Given the description of an element on the screen output the (x, y) to click on. 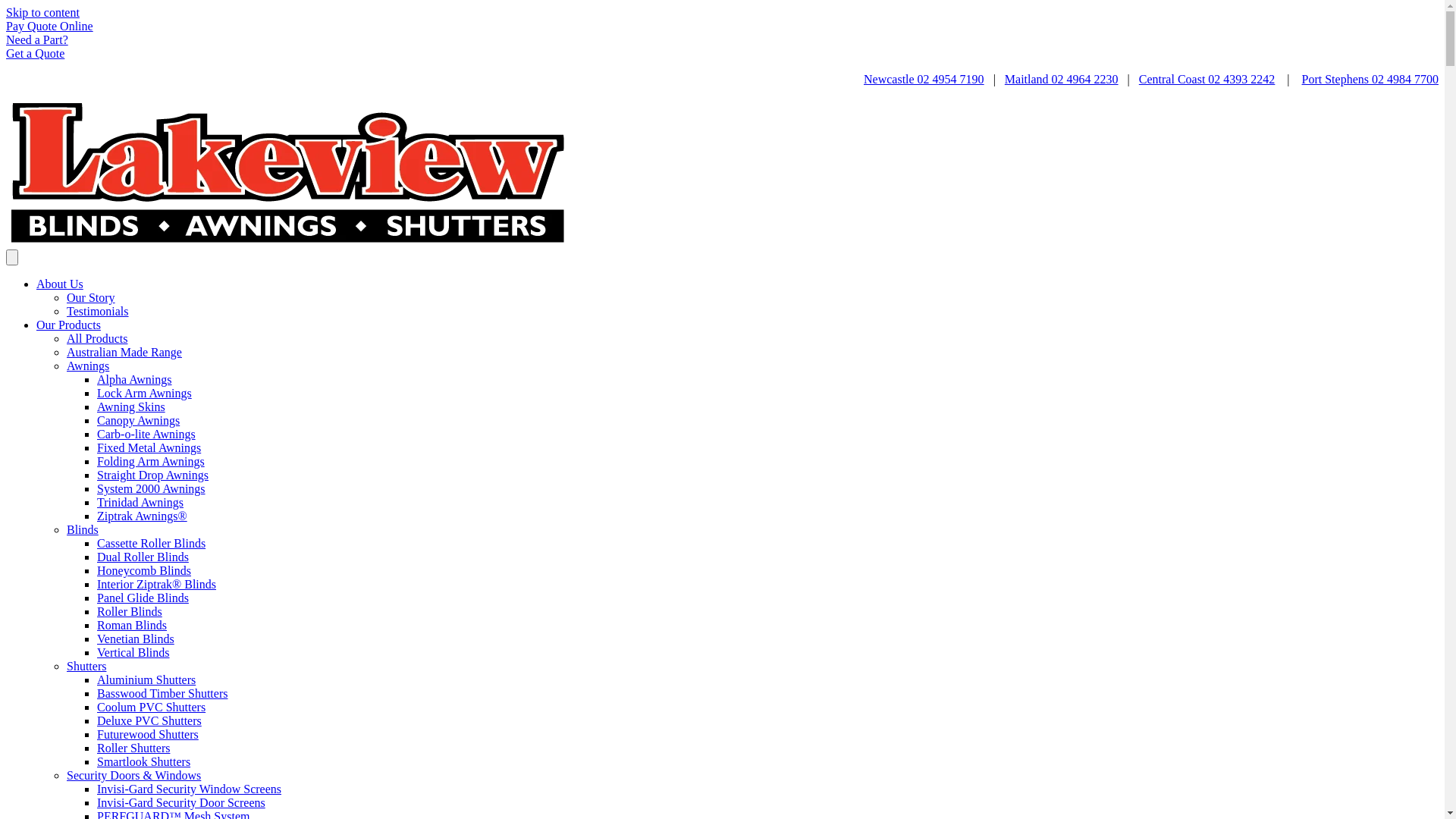
Deluxe PVC Shutters Element type: text (149, 720)
Honeycomb Blinds Element type: text (144, 570)
Coolum PVC Shutters Element type: text (151, 706)
Smartlook Shutters Element type: text (143, 761)
Get a Quote Element type: text (35, 53)
Port Stephens 02 4984 7700 Element type: text (1370, 78)
Need a Part? Element type: text (37, 39)
Maitland 02 4964 2230 Element type: text (1061, 78)
Invisi-Gard Security Door Screens Element type: text (181, 802)
Shutters Element type: text (86, 665)
Vertical Blinds Element type: text (133, 652)
Testimonials Element type: text (97, 310)
Skip to content Element type: text (42, 12)
Fixed Metal Awnings Element type: text (148, 447)
Awning Skins Element type: text (131, 406)
Carb-o-lite Awnings Element type: text (146, 433)
Straight Drop Awnings Element type: text (152, 474)
Invisi-Gard Security Window Screens Element type: text (189, 788)
Blinds Element type: text (82, 529)
Dual Roller Blinds Element type: text (142, 556)
Our Products Element type: text (68, 324)
Roller Blinds Element type: text (129, 611)
Panel Glide Blinds Element type: text (142, 597)
Alpha Awnings Element type: text (134, 379)
Lock Arm Awnings Element type: text (144, 392)
Pay Quote Online Element type: text (49, 25)
Trinidad Awnings Element type: text (140, 501)
Canopy Awnings Element type: text (138, 420)
Venetian Blinds Element type: text (135, 638)
Folding Arm Awnings Element type: text (150, 461)
Basswood Timber Shutters Element type: text (162, 693)
Roller Shutters Element type: text (133, 747)
All Products Element type: text (96, 338)
Aluminium Shutters Element type: text (146, 679)
Awnings Element type: text (87, 365)
System 2000 Awnings Element type: text (151, 488)
Australian Made Range Element type: text (124, 351)
Central Coast 02 4393 2242 Element type: text (1207, 78)
About Us Element type: text (59, 283)
Futurewood Shutters Element type: text (147, 734)
Roman Blinds Element type: text (131, 624)
Newcastle 02 4954 7190 Element type: text (923, 78)
Cassette Roller Blinds Element type: text (151, 542)
Our Story Element type: text (90, 297)
Security Doors & Windows Element type: text (133, 774)
LAKEVIEW-LOGO-OLD Element type: hover (286, 172)
